Given the description of an element on the screen output the (x, y) to click on. 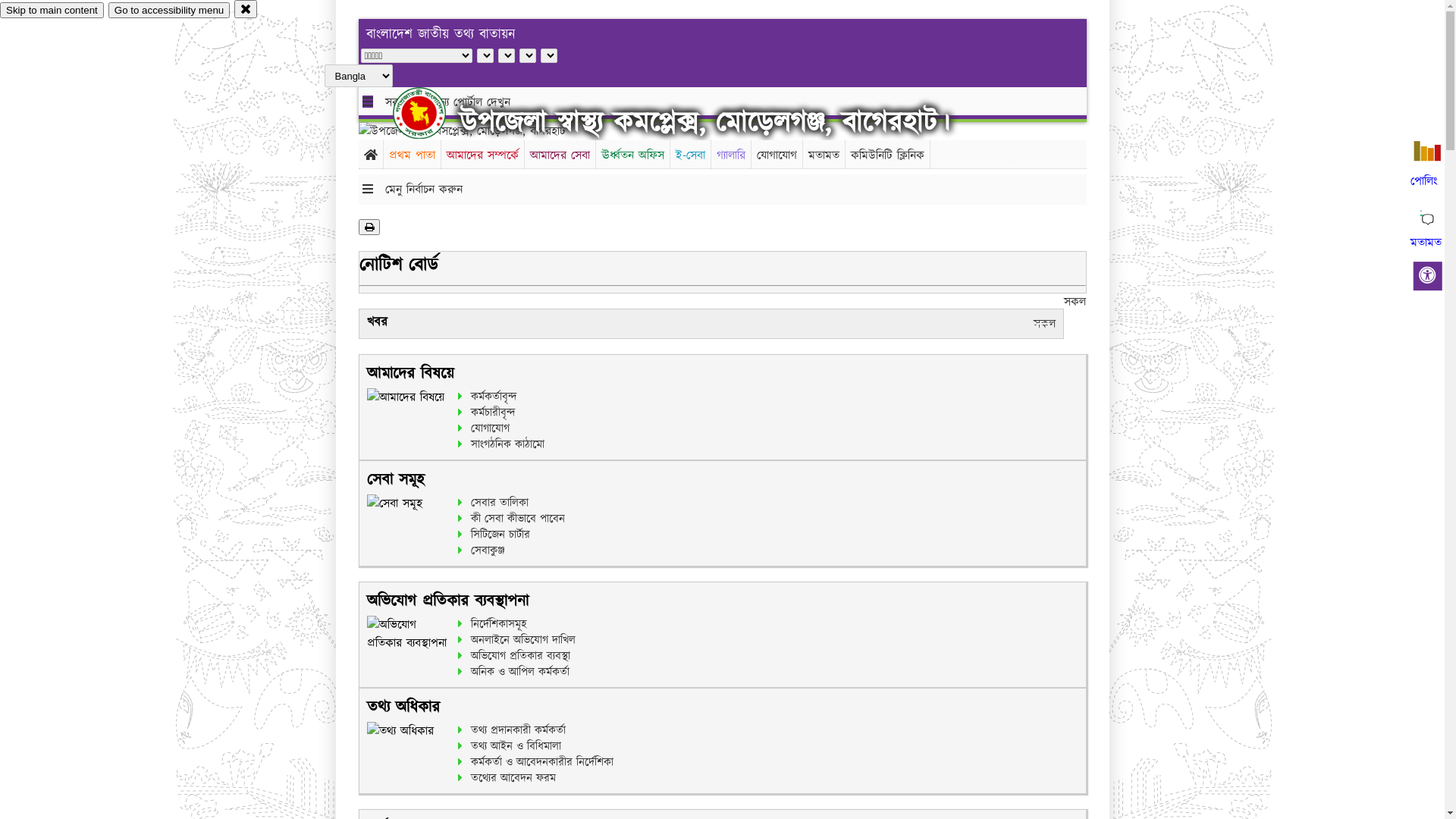

                
             Element type: hover (431, 112)
Go to accessibility menu Element type: text (168, 10)
close Element type: hover (245, 9)
Skip to main content Element type: text (51, 10)
